Given the description of an element on the screen output the (x, y) to click on. 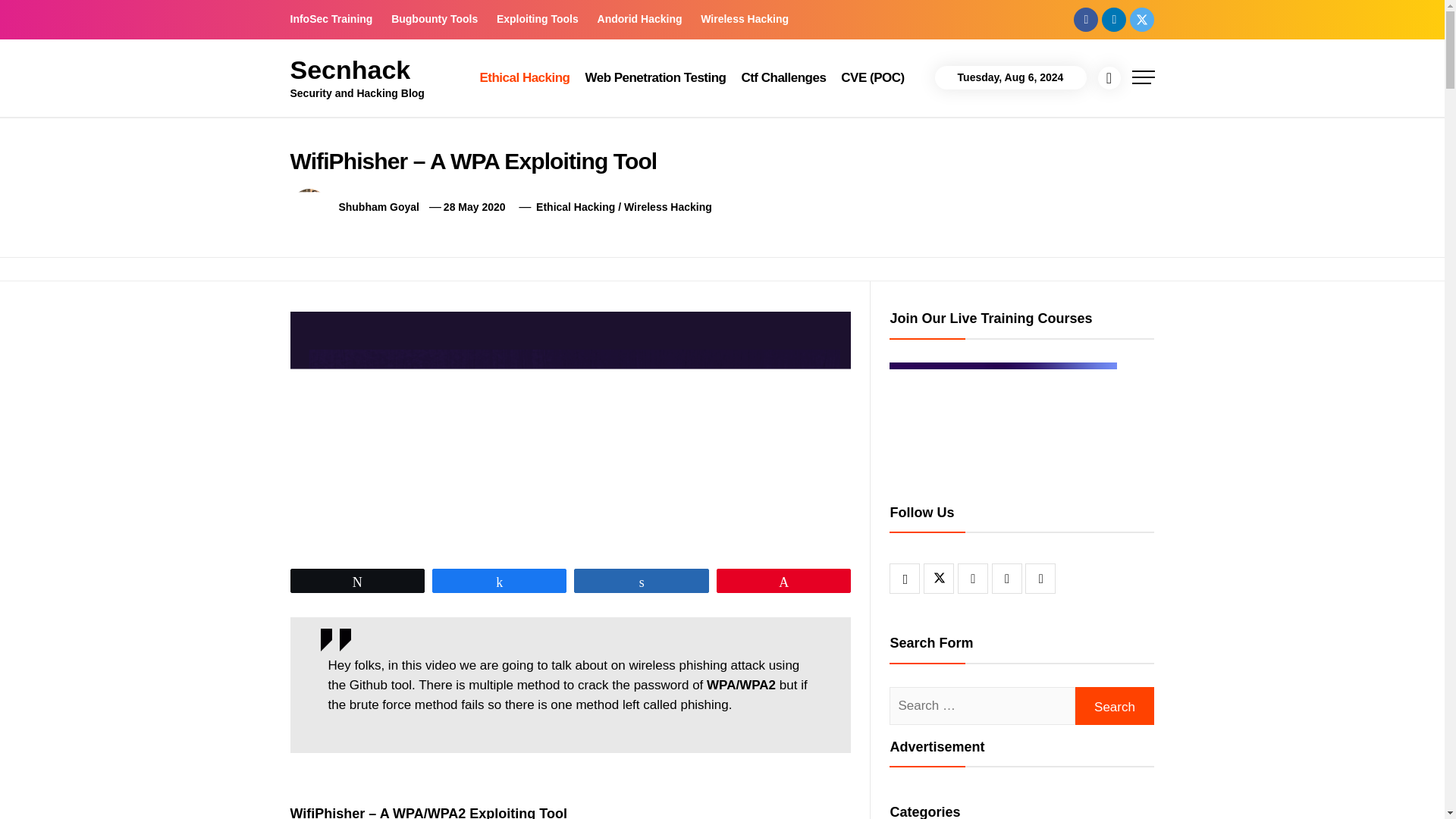
Linkedin (1113, 18)
Search (797, 41)
Wireless Hacking (744, 19)
facebook (1085, 18)
InfoSec Training (334, 19)
Bugbounty Tools (434, 19)
Secnhack (349, 69)
28 May 2020 (474, 205)
Search (1114, 705)
Ethical Hacking (574, 205)
